Given the description of an element on the screen output the (x, y) to click on. 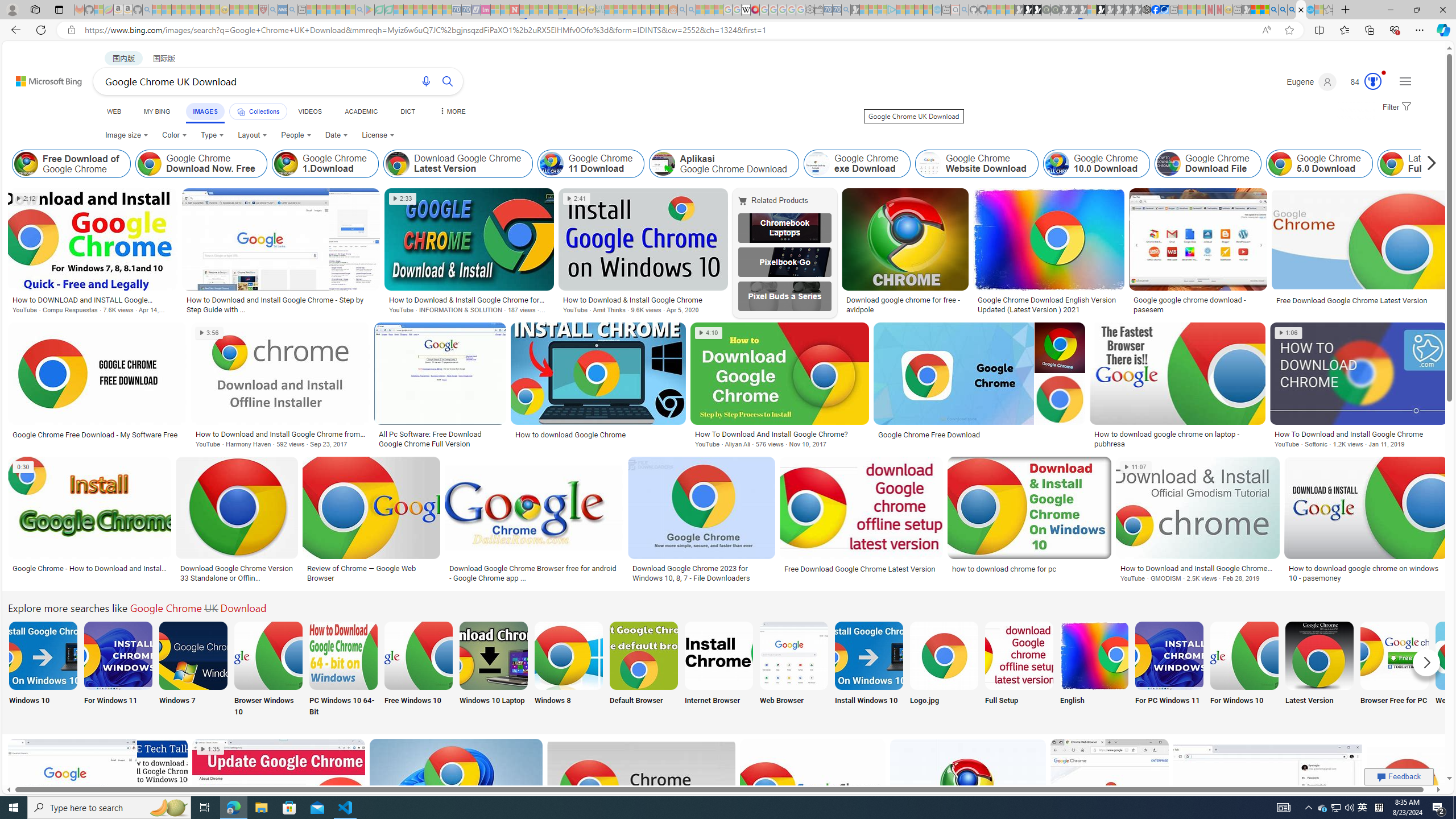
Date (336, 135)
Eugene (1311, 81)
Google google chrome download - pasesem (1198, 304)
Default Browser (644, 669)
AutomationID: serp_medal_svg (1372, 81)
How to download Google ChromeSave (600, 387)
Google Chrome Browser Windows 10 Download Browser Windows 10 (268, 669)
Google Chrome Default Browser Download Default Browser (644, 669)
